Given the description of an element on the screen output the (x, y) to click on. 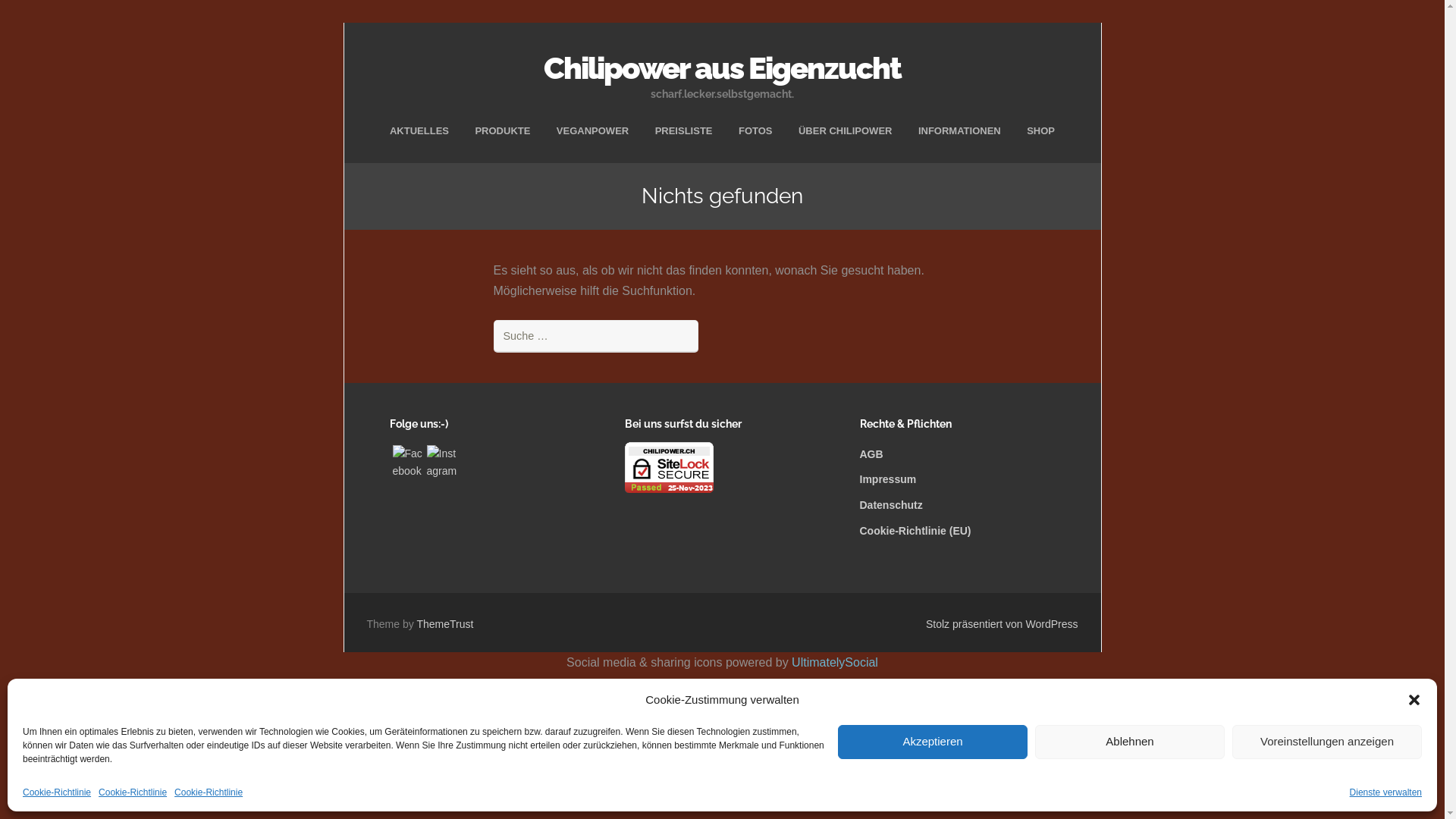
Cookie-Richtlinie Element type: text (56, 792)
ThemeTrust Element type: text (444, 624)
Voreinstellungen anzeigen Element type: text (1326, 741)
Impressum Element type: text (887, 479)
Cookie-Richtlinie (EU) Element type: text (915, 530)
Instagram Element type: hover (441, 463)
Cookie-Richtlinie Element type: text (132, 792)
VEGANPOWER Element type: text (592, 130)
AKTUELLES Element type: text (419, 130)
SiteLock Element type: hover (668, 467)
Cookie-Richtlinie Element type: text (208, 792)
SHOP Element type: text (1040, 130)
PRODUKTE Element type: text (502, 130)
Ablehnen Element type: text (1129, 741)
AGB Element type: text (871, 454)
Chilipower aus Eigenzucht
scharf.lecker.selbstgemacht. Element type: text (722, 70)
Facebook Element type: hover (407, 463)
Akzeptieren Element type: text (932, 741)
FOTOS Element type: text (755, 130)
Datenschutz Element type: text (890, 504)
Zum Inhalt springen Element type: text (721, 119)
Dienste verwalten Element type: text (1385, 792)
Suche Element type: text (33, 16)
UltimatelySocial Element type: text (834, 661)
PREISLISTE Element type: text (683, 130)
INFORMATIONEN Element type: text (959, 130)
